Given the description of an element on the screen output the (x, y) to click on. 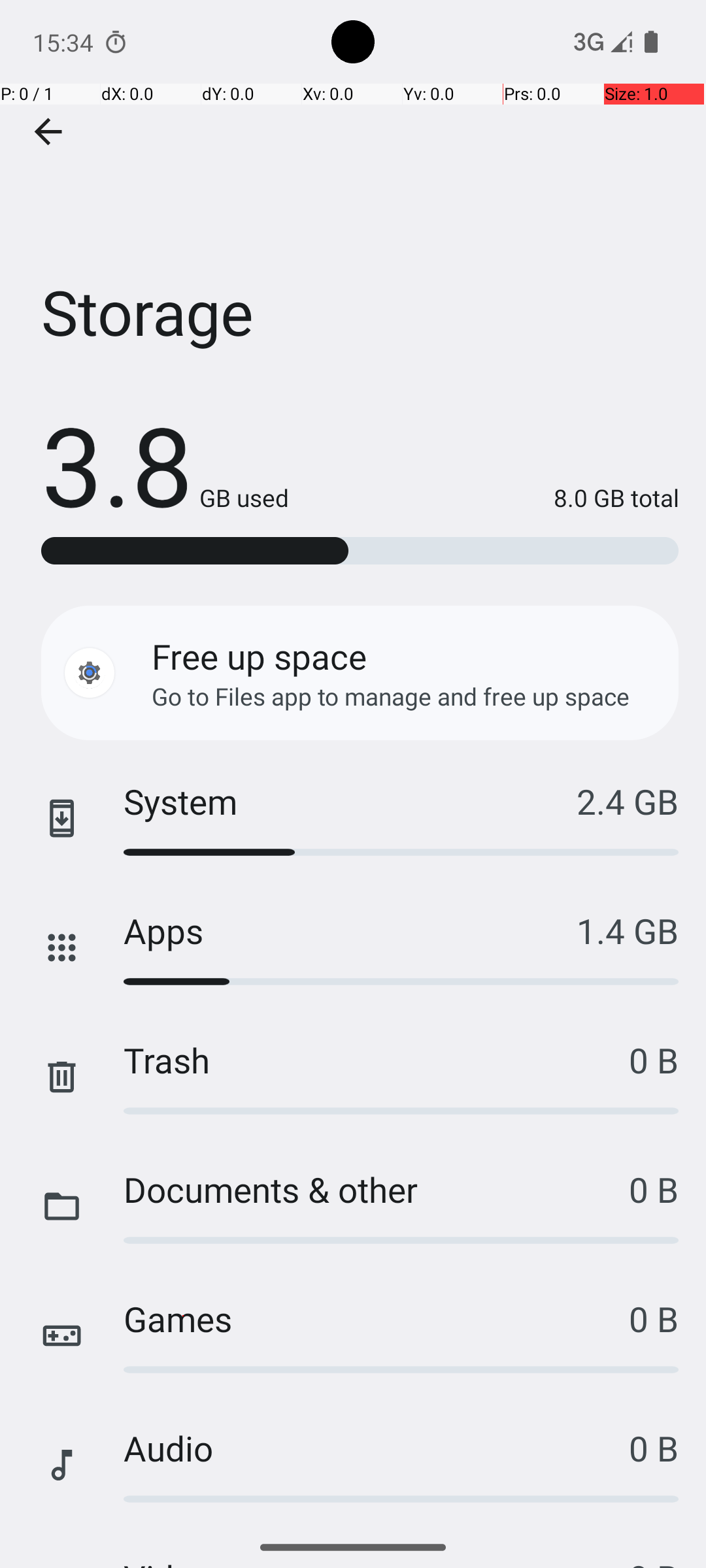
3.8 GB used Element type: android.widget.TextView (164, 463)
2.4 GB Element type: android.widget.TextView (627, 801)
